Given the description of an element on the screen output the (x, y) to click on. 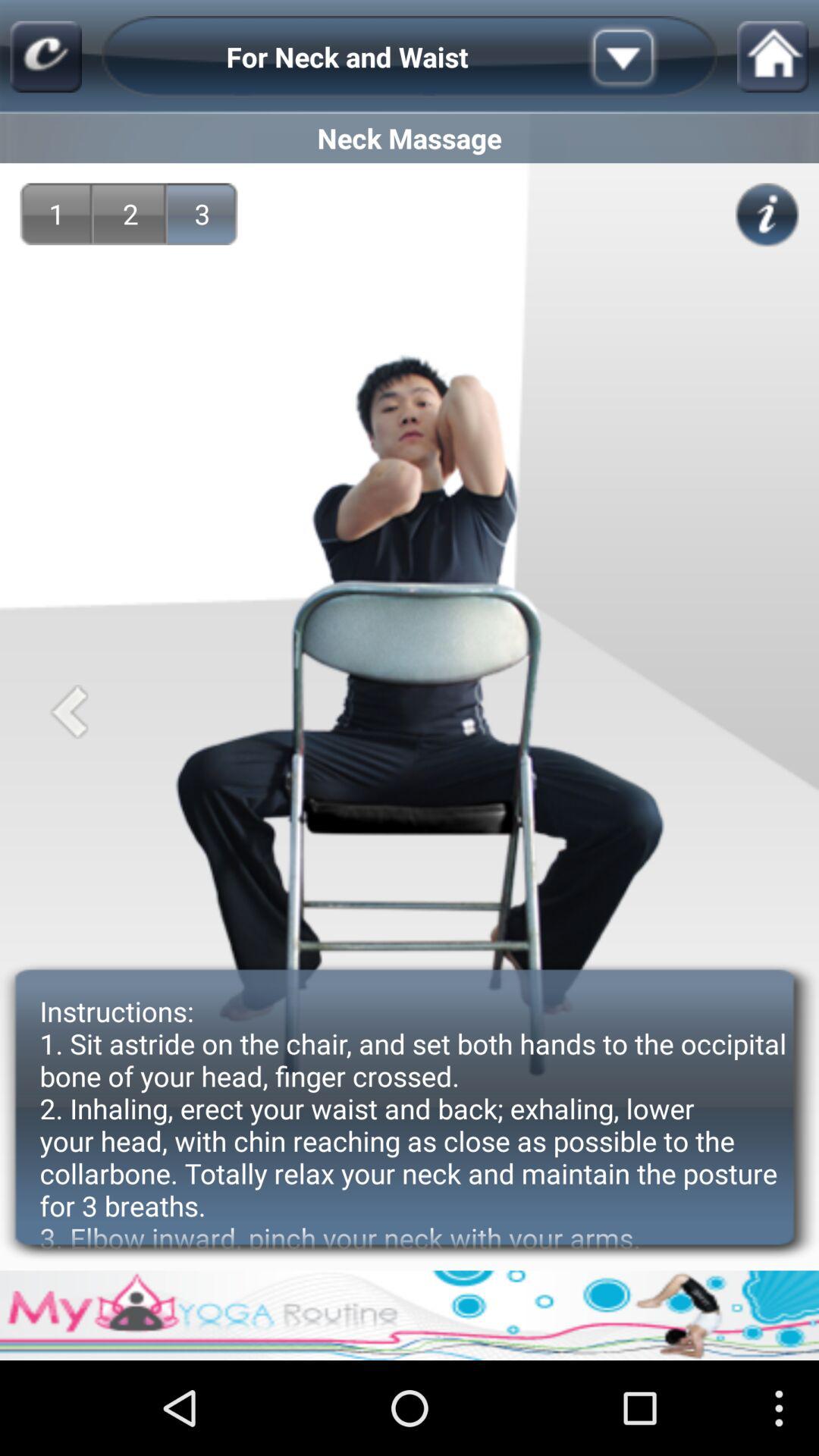
download video (646, 56)
